Given the description of an element on the screen output the (x, y) to click on. 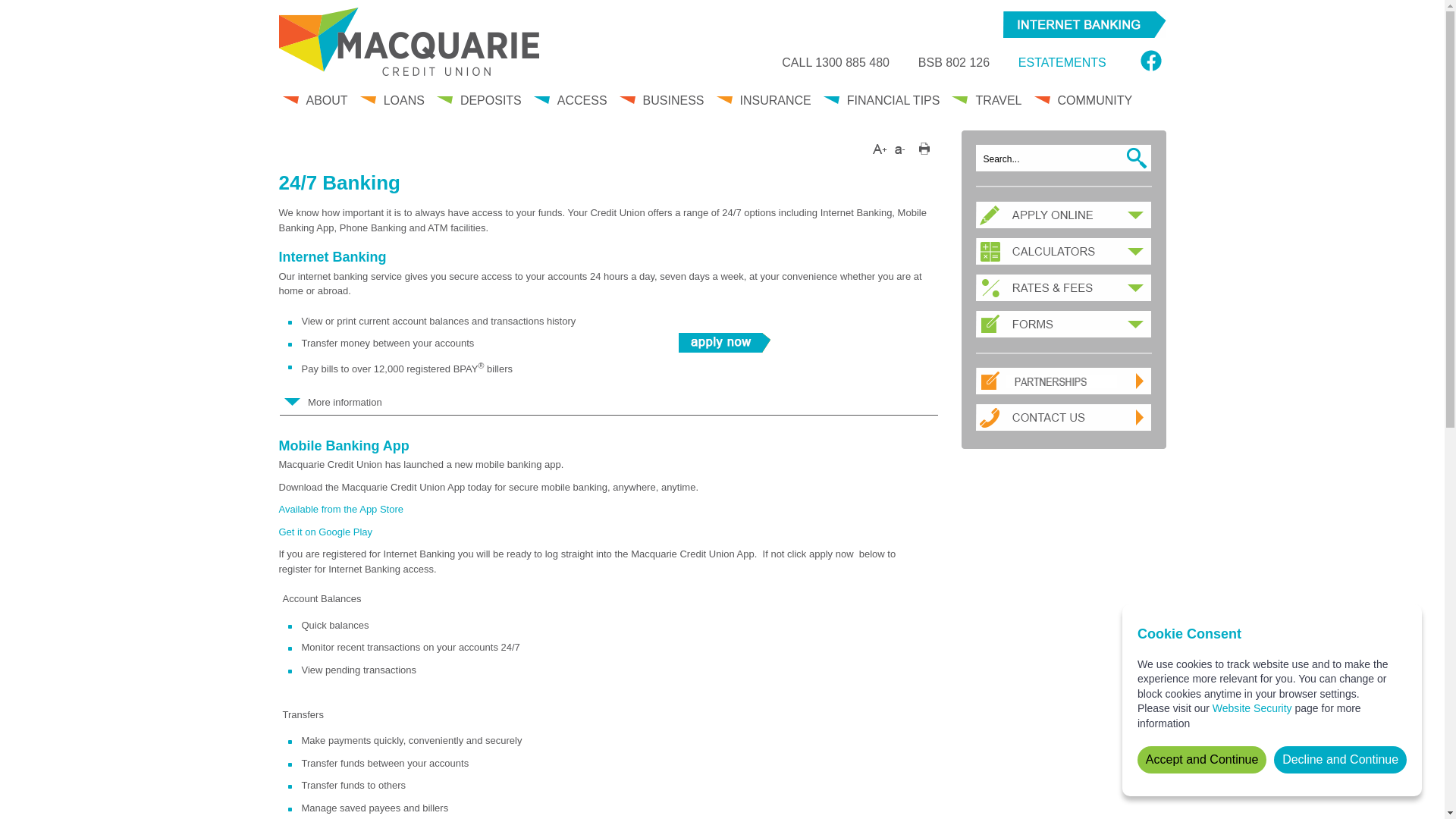
FINANCIAL TIPS Element type: text (883, 107)
Decrease font size Element type: hover (900, 147)
COMMUNITY Element type: text (1084, 107)
Increase font size Element type: hover (879, 147)
Decline and Continue Element type: text (1340, 759)
ACCESS Element type: text (572, 107)
DEPOSITS Element type: text (480, 107)
Print Element type: hover (923, 150)
BUSINESS Element type: text (663, 107)
Get it on Google Play Element type: text (326, 531)
Available from the App Store Element type: text (341, 508)
TRAVEL Element type: text (988, 107)
ESTATEMENTS Element type: text (1062, 62)
Website Security Element type: text (1252, 708)
ABOUT Element type: text (315, 107)
INSURANCE Element type: text (764, 107)
LOANS Element type: text (393, 107)
Accept and Continue Element type: text (1201, 759)
24/7 Banking Element type: text (339, 182)
Decrease Size Element type: hover (900, 148)
